Given the description of an element on the screen output the (x, y) to click on. 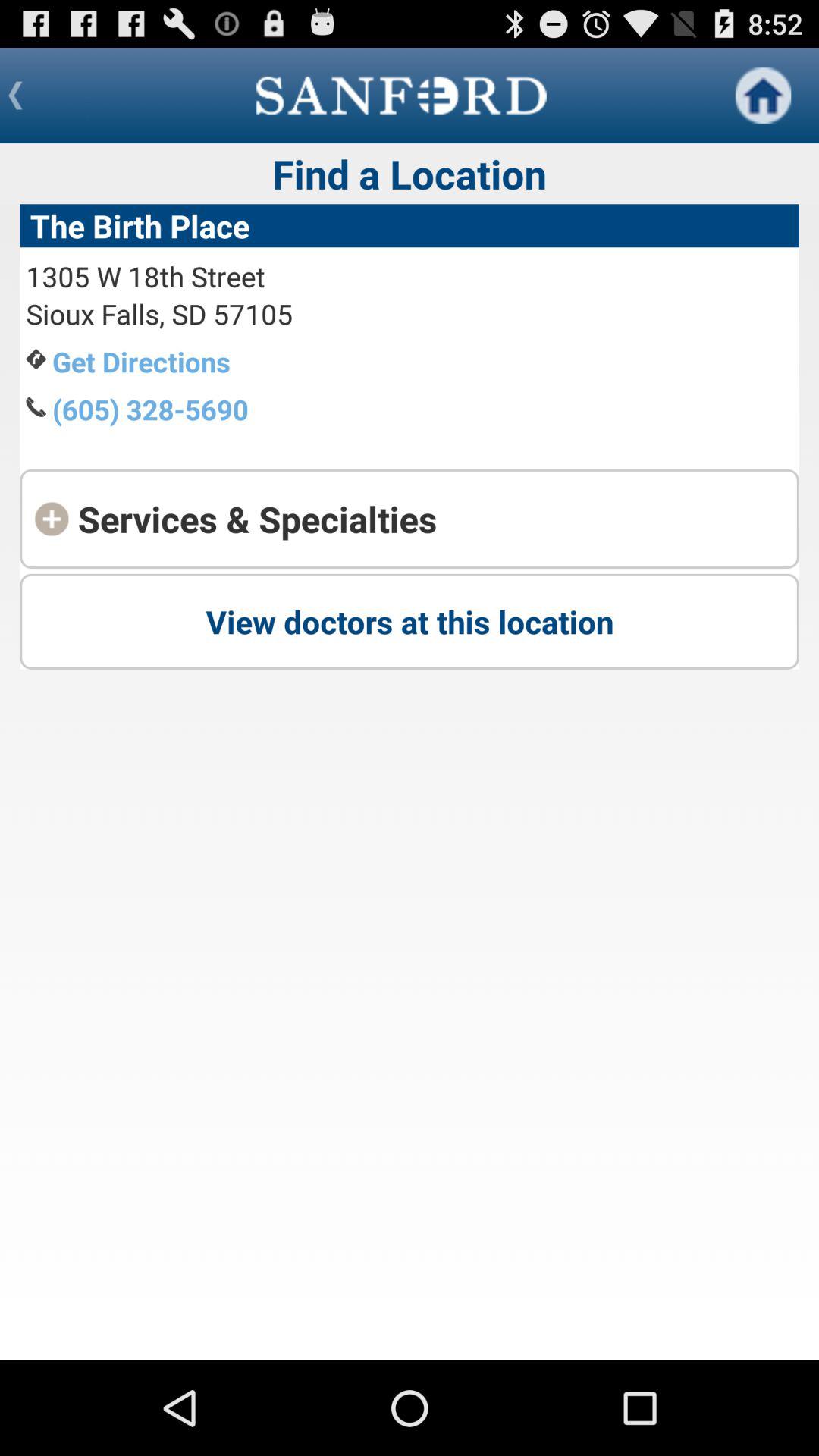
scroll to the view doctors at (409, 621)
